Given the description of an element on the screen output the (x, y) to click on. 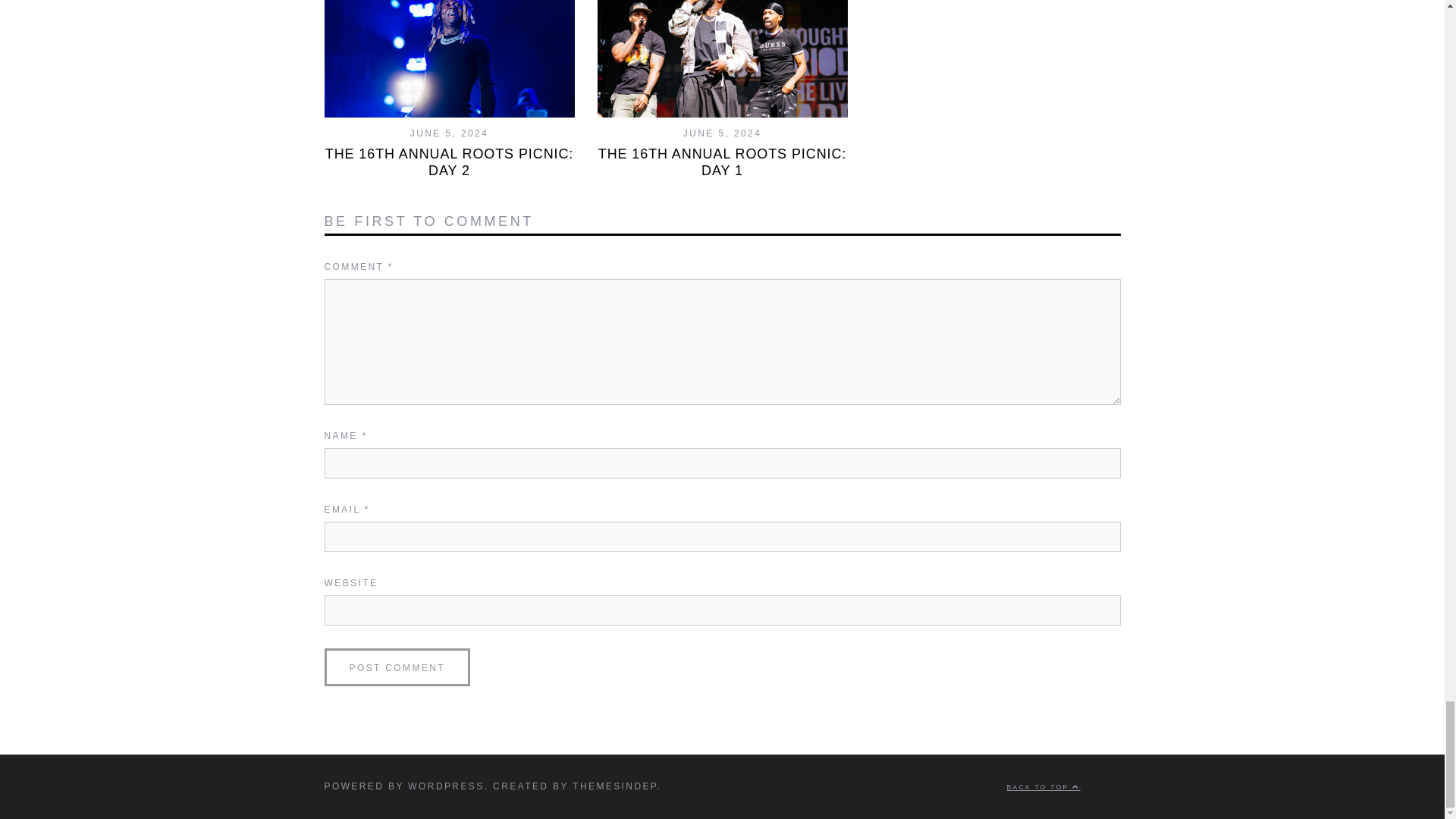
Post Comment (397, 667)
